Given the description of an element on the screen output the (x, y) to click on. 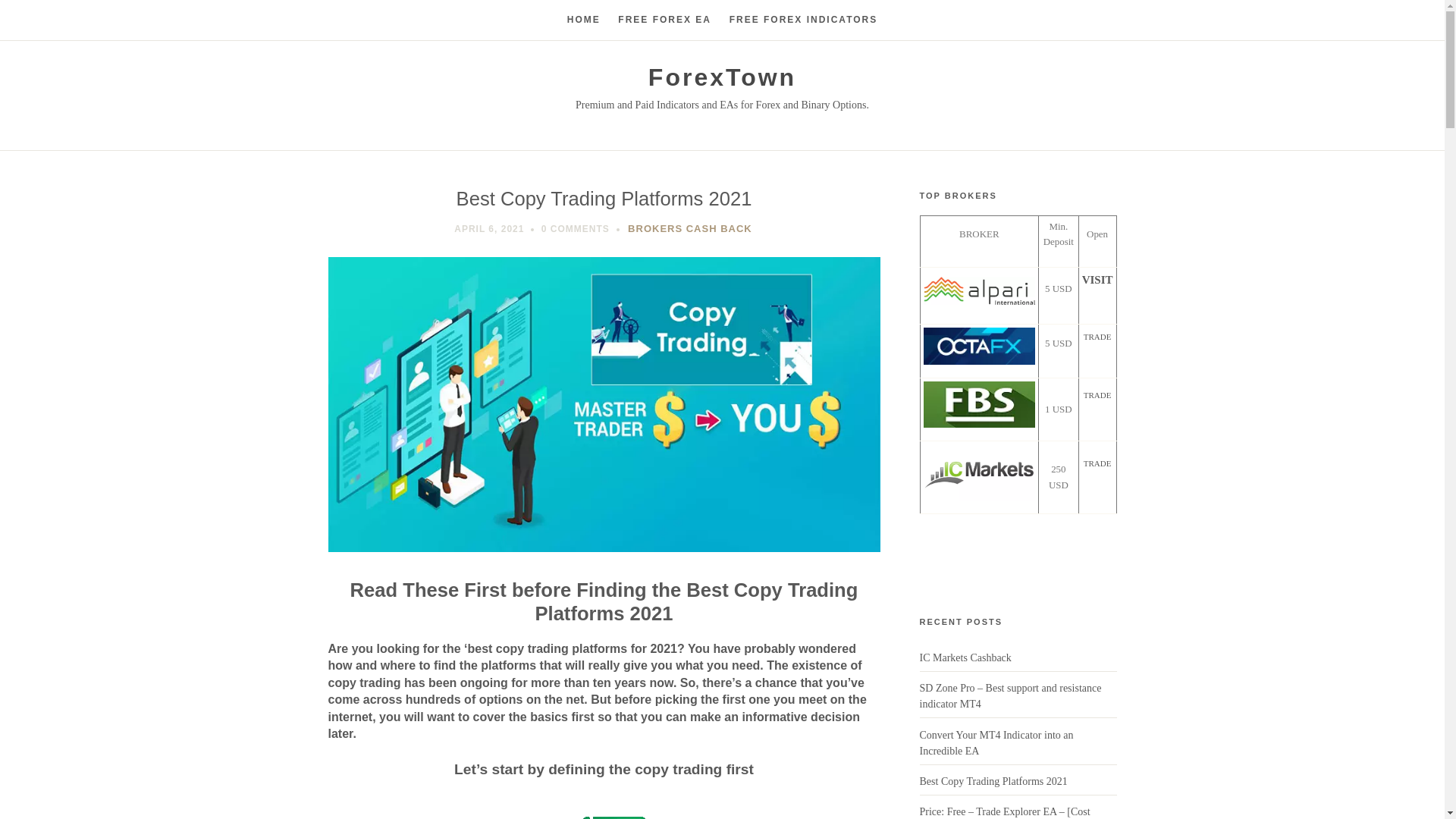
ForexTown (721, 76)
Best Copy Trading Platforms 2021 (992, 781)
FREE FOREX INDICATORS (803, 20)
IC Markets Cashback (964, 657)
BROKERS CASH BACK (689, 228)
0 COMMENTS (575, 228)
FREE FOREX EA (664, 20)
Convert Your MT4 Indicator into an Incredible EA (995, 742)
